Given the description of an element on the screen output the (x, y) to click on. 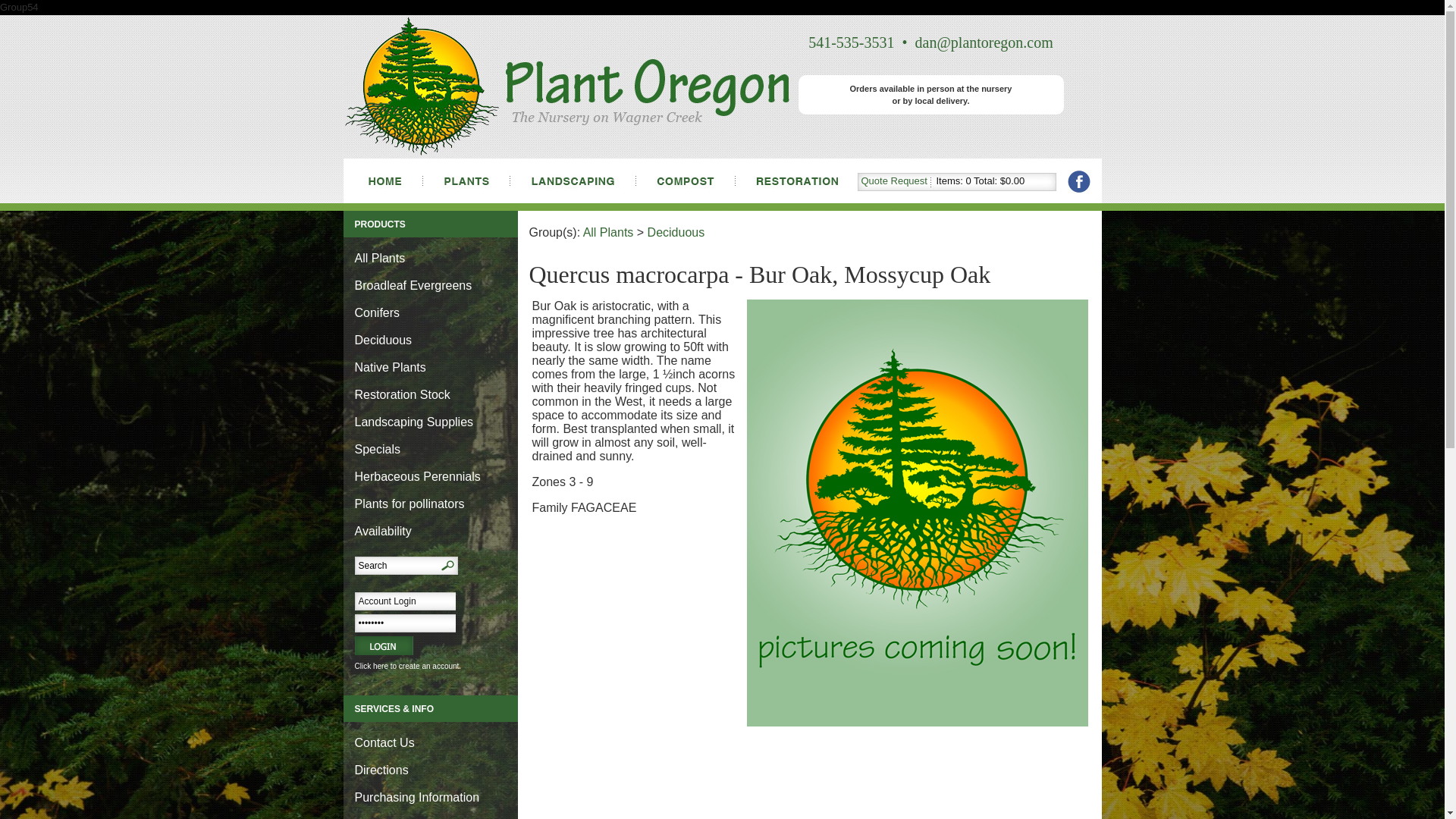
Specials (377, 449)
Native Plants (390, 367)
All Plants (380, 257)
Quote Request (894, 180)
Herbaceous Perennials (417, 476)
Submit (384, 645)
Account Login (405, 601)
Contact Us (384, 742)
Password (405, 623)
Conifers (377, 312)
Broadleaf Evergreens (413, 285)
Purchasing Information (417, 797)
Click here to create an account. (408, 665)
